Given the description of an element on the screen output the (x, y) to click on. 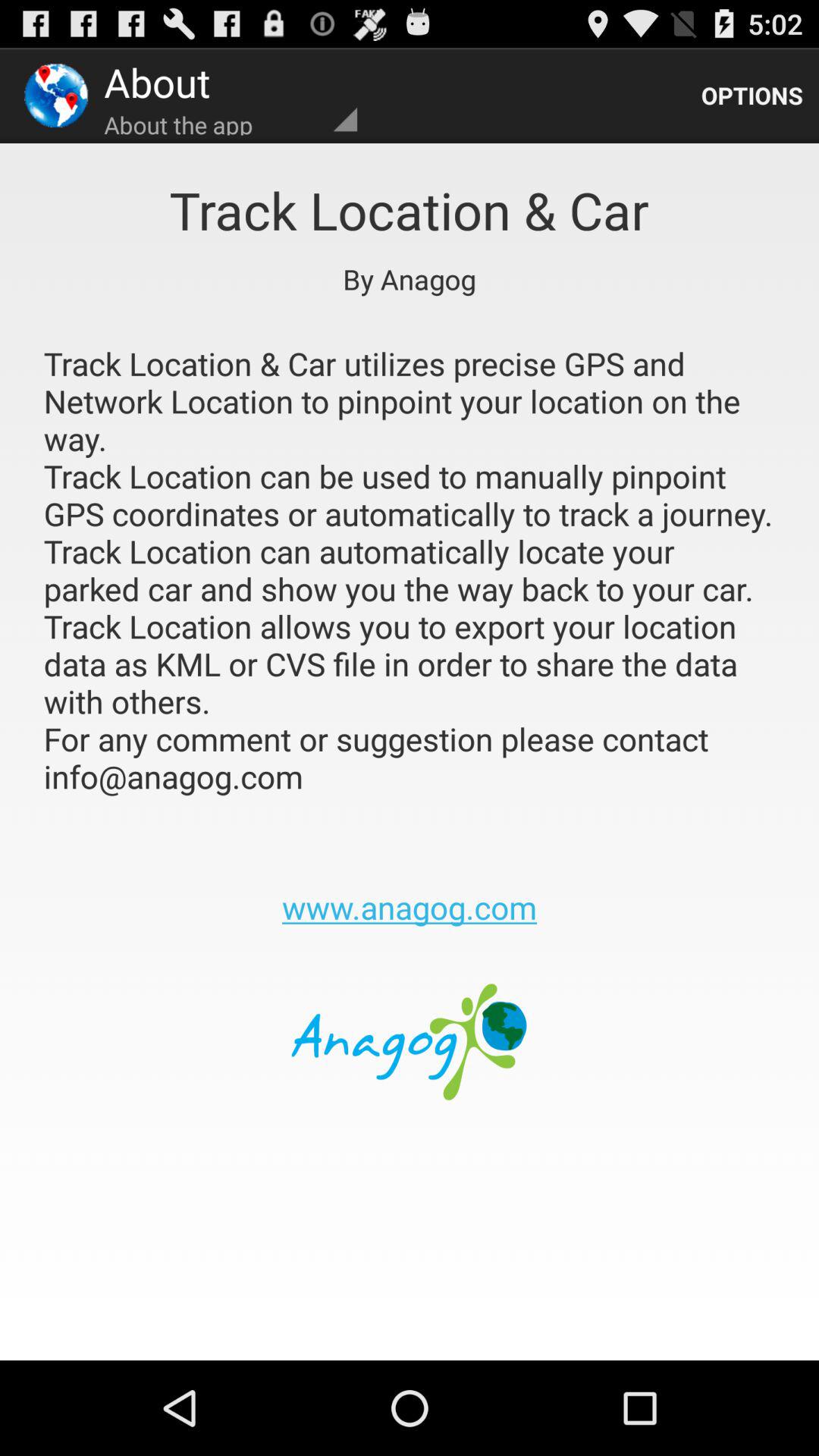
launch the app next to the about the app app (752, 95)
